Given the description of an element on the screen output the (x, y) to click on. 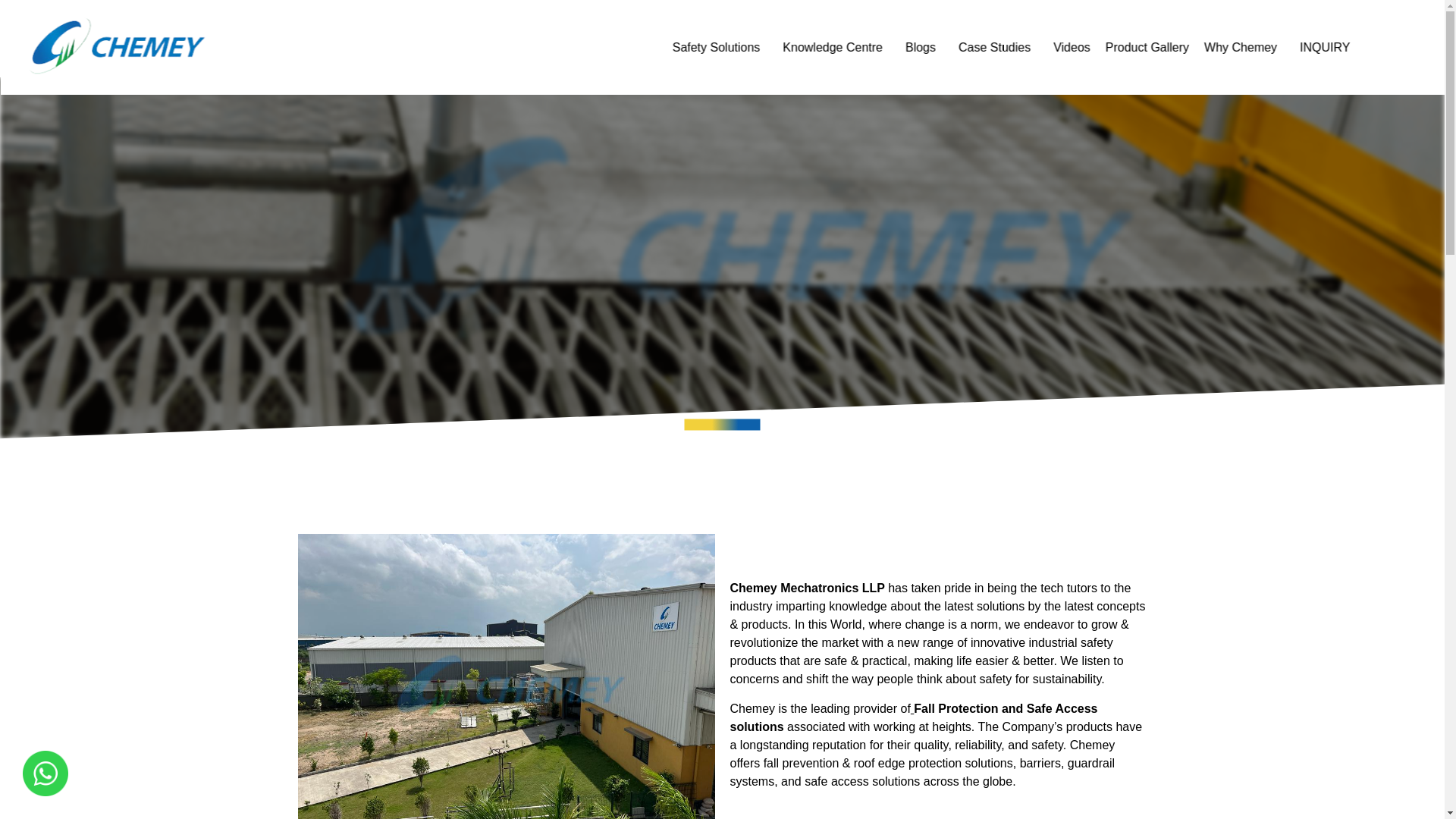
Product Gallery (1146, 47)
Blogs (924, 47)
Why Chemey (1244, 47)
Case Studies (997, 47)
Knowledge Centre (837, 47)
Videos (1071, 47)
Safety Solutions (720, 47)
